Given the description of an element on the screen output the (x, y) to click on. 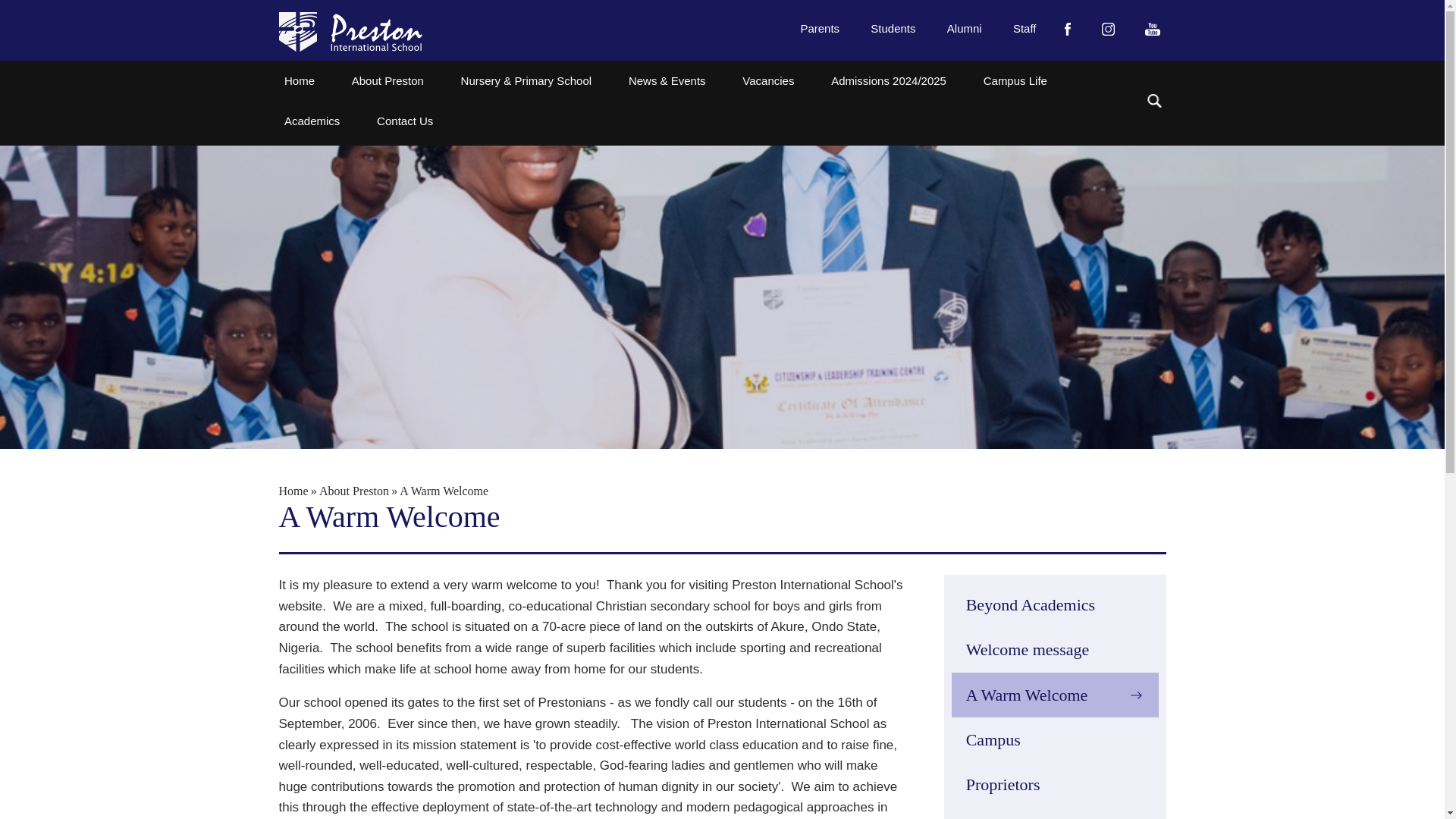
Staff (1024, 27)
Students (892, 27)
Preston International School (350, 31)
Alumni (963, 27)
Parents (819, 27)
Home (299, 80)
About Preston (387, 80)
